Given the description of an element on the screen output the (x, y) to click on. 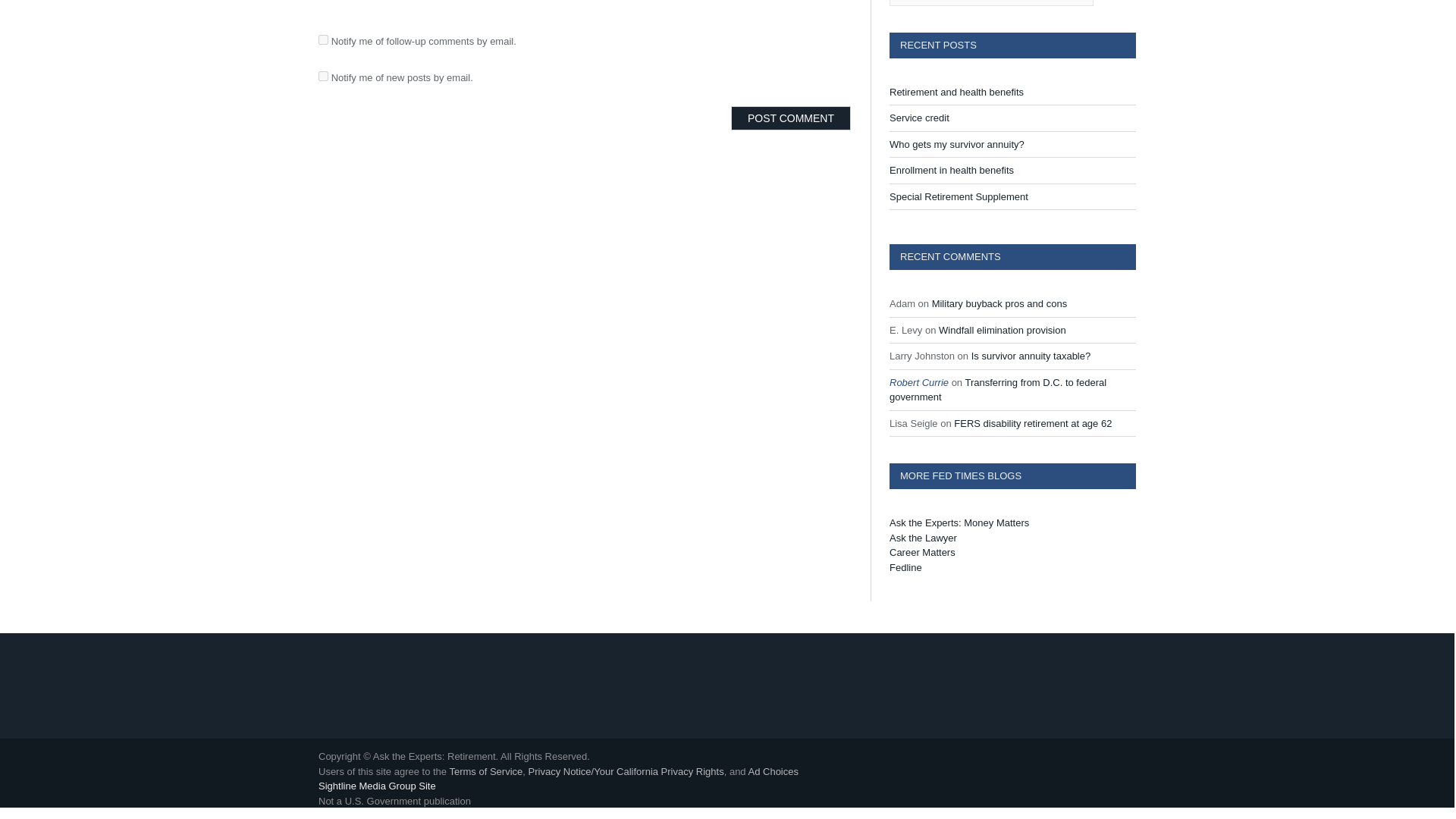
Post Comment (790, 118)
subscribe (323, 40)
subscribe (323, 76)
